Given the description of an element on the screen output the (x, y) to click on. 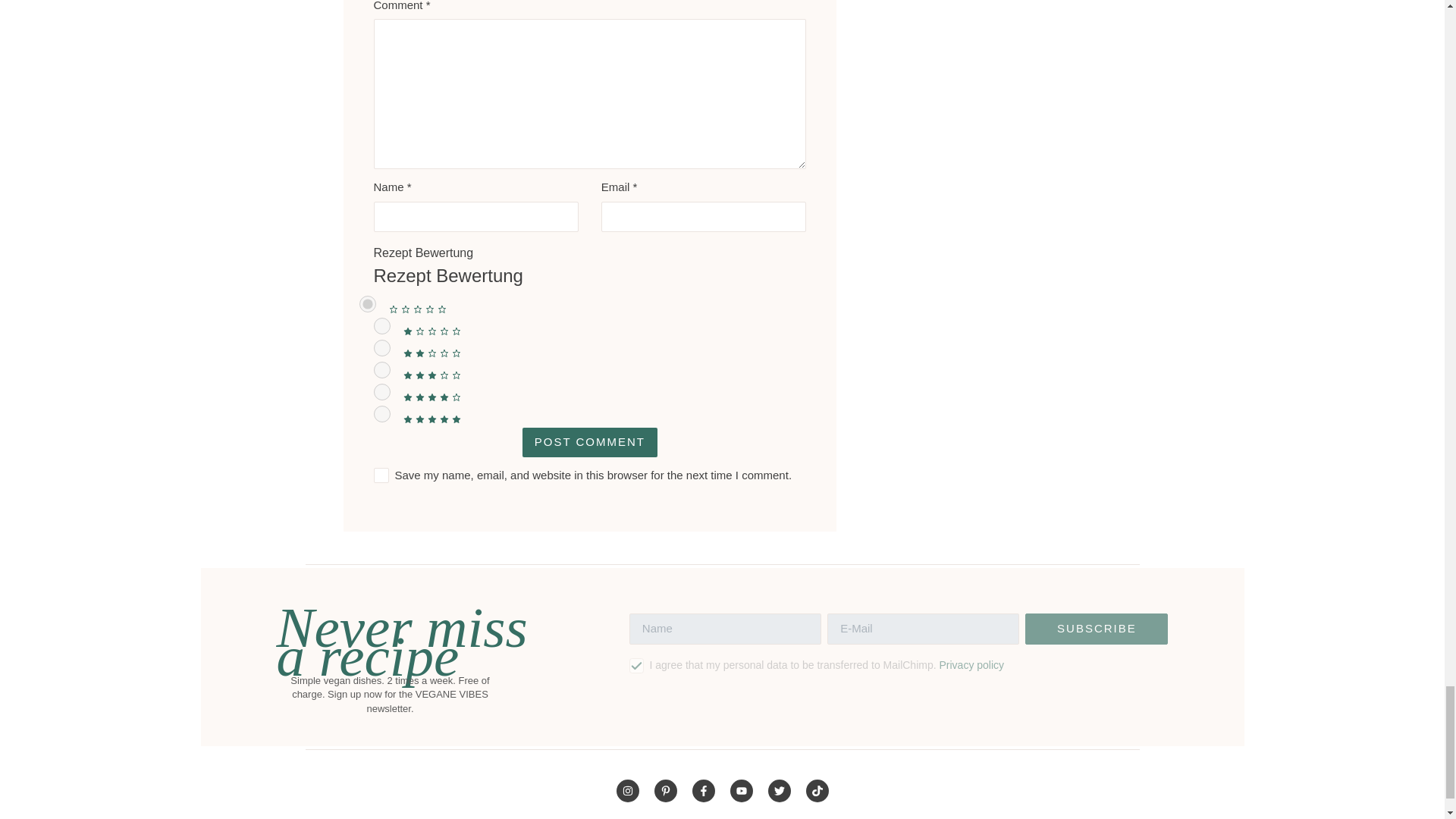
1 (381, 325)
0 (367, 303)
2 (381, 347)
